Given the description of an element on the screen output the (x, y) to click on. 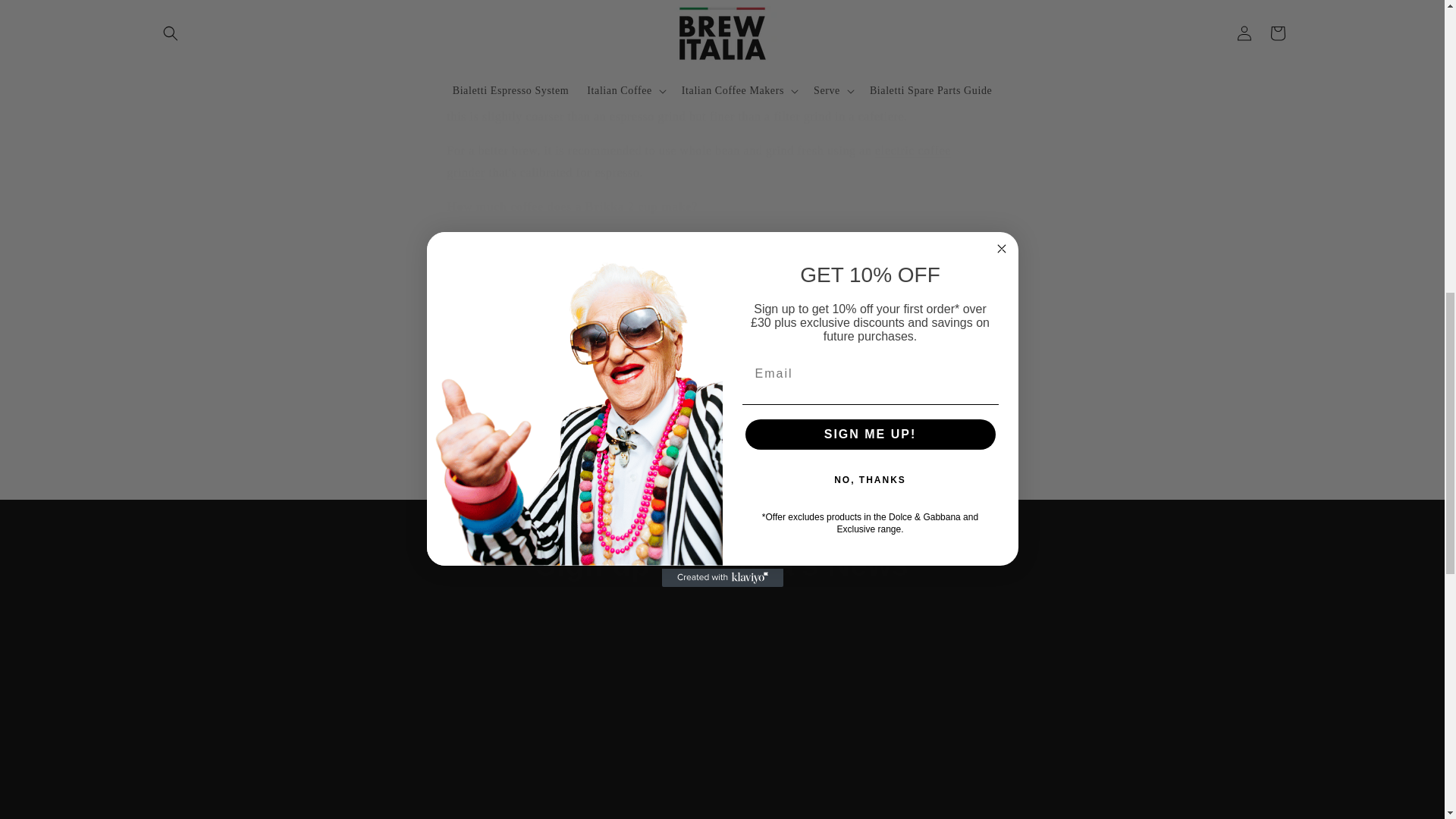
Sign up to Nonna's News (721, 564)
Become a brand ambassador (1149, 791)
Email (722, 676)
